Given the description of an element on the screen output the (x, y) to click on. 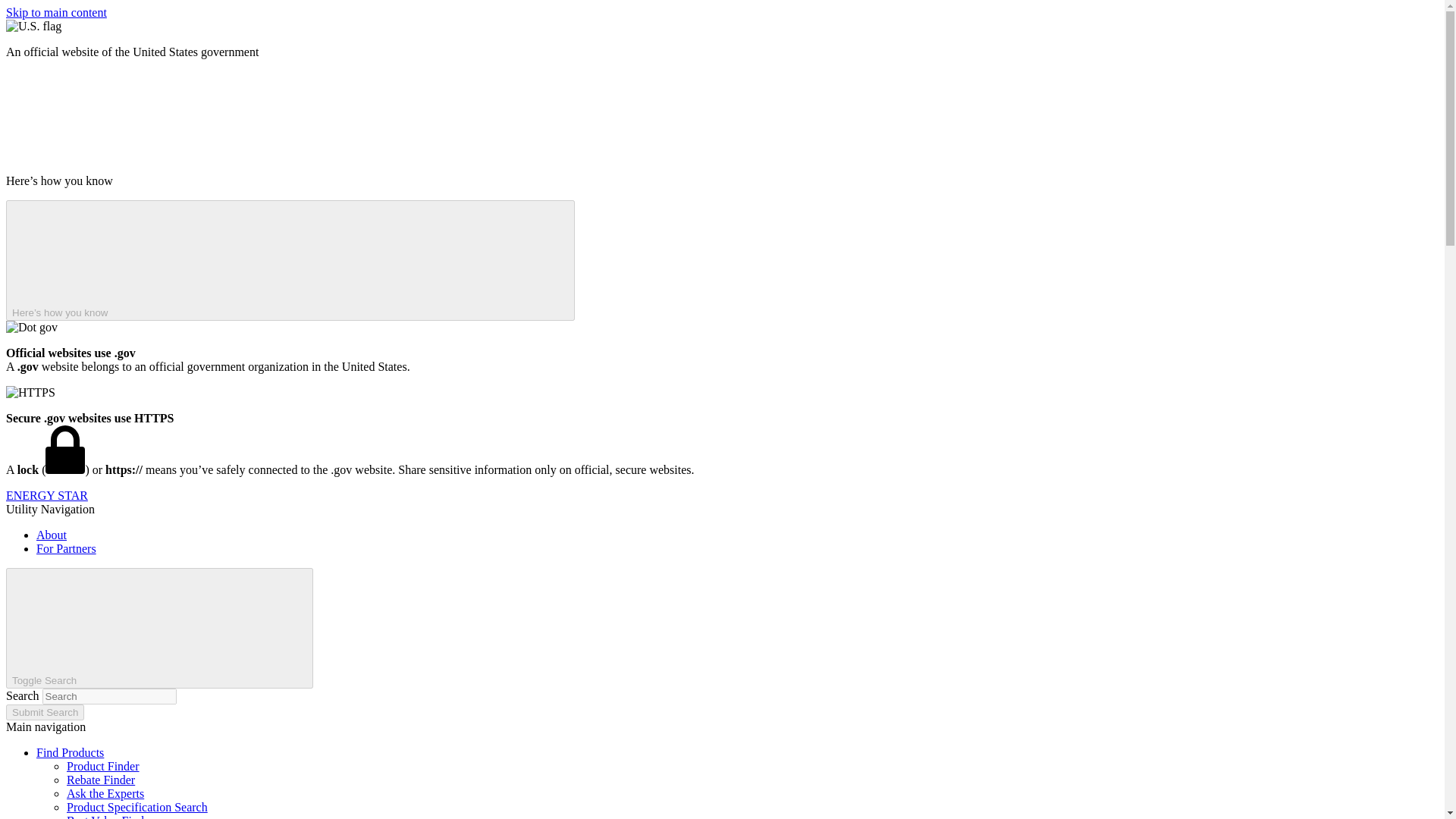
About (51, 534)
Best Value Finder (109, 816)
Toggle Search Magnifying Glass Icon (159, 628)
Rebate Finder (100, 779)
For Partners (66, 548)
Magnifying Glass Icon (193, 626)
Find Products (69, 752)
Home (46, 495)
LockA locked padlock (64, 449)
Product Specification Search (137, 807)
Skip to main content (55, 11)
ENERGY STAR (46, 495)
Submit Search (44, 712)
Product Finder (102, 766)
Ask the Experts (105, 793)
